Given the description of an element on the screen output the (x, y) to click on. 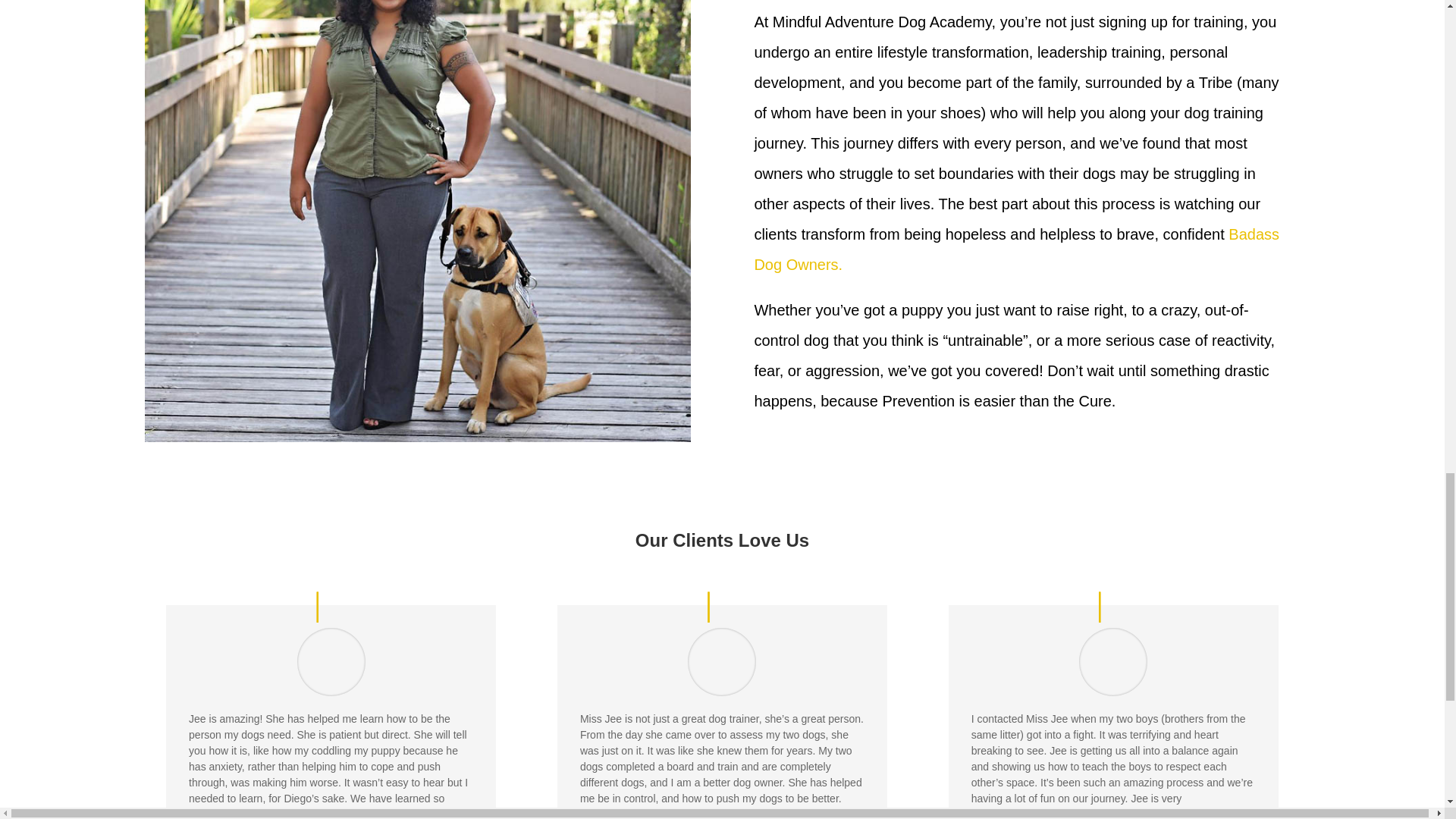
Badass Dog Owners. (1016, 249)
